Given the description of an element on the screen output the (x, y) to click on. 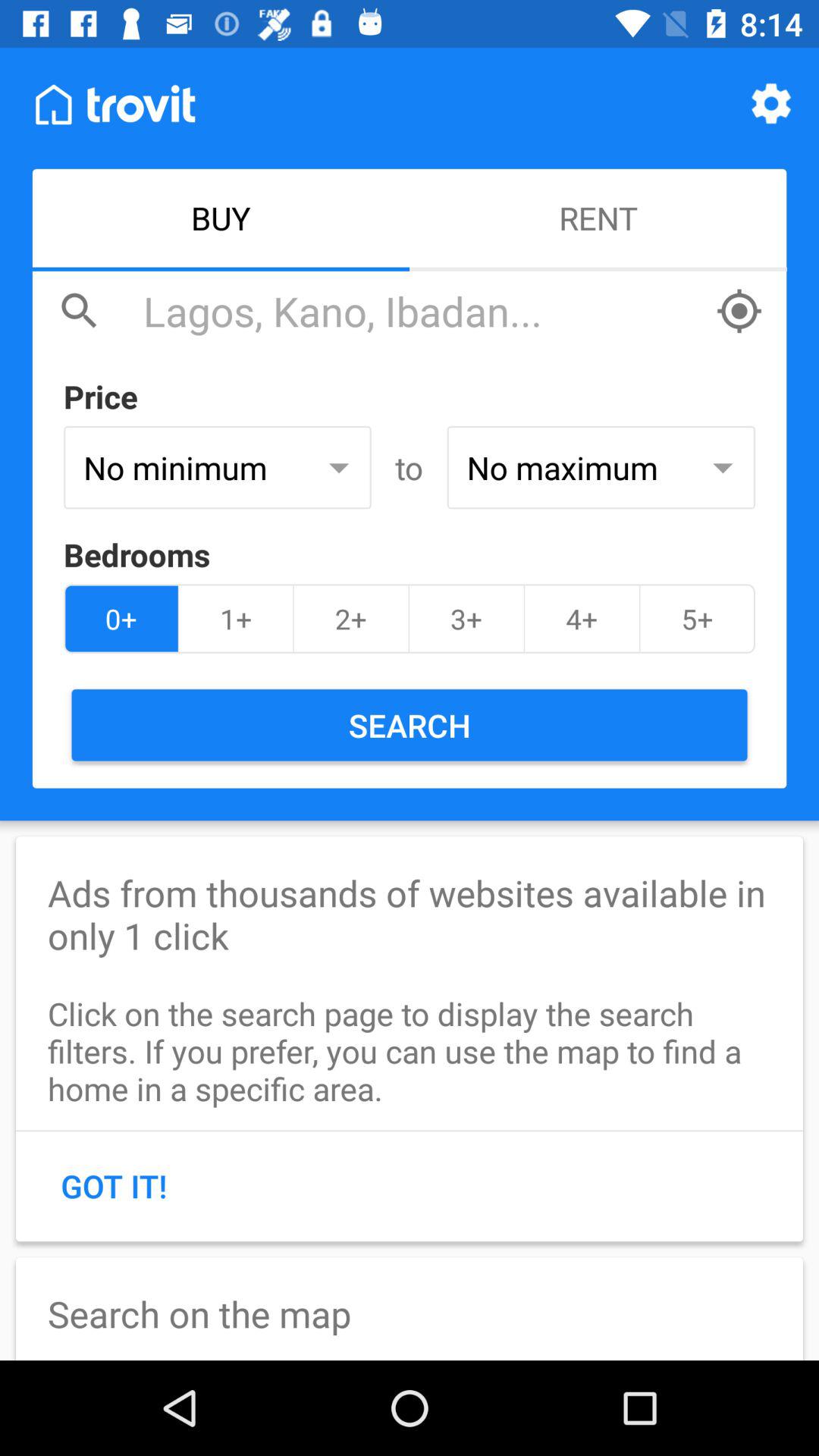
locate (739, 310)
